Given the description of an element on the screen output the (x, y) to click on. 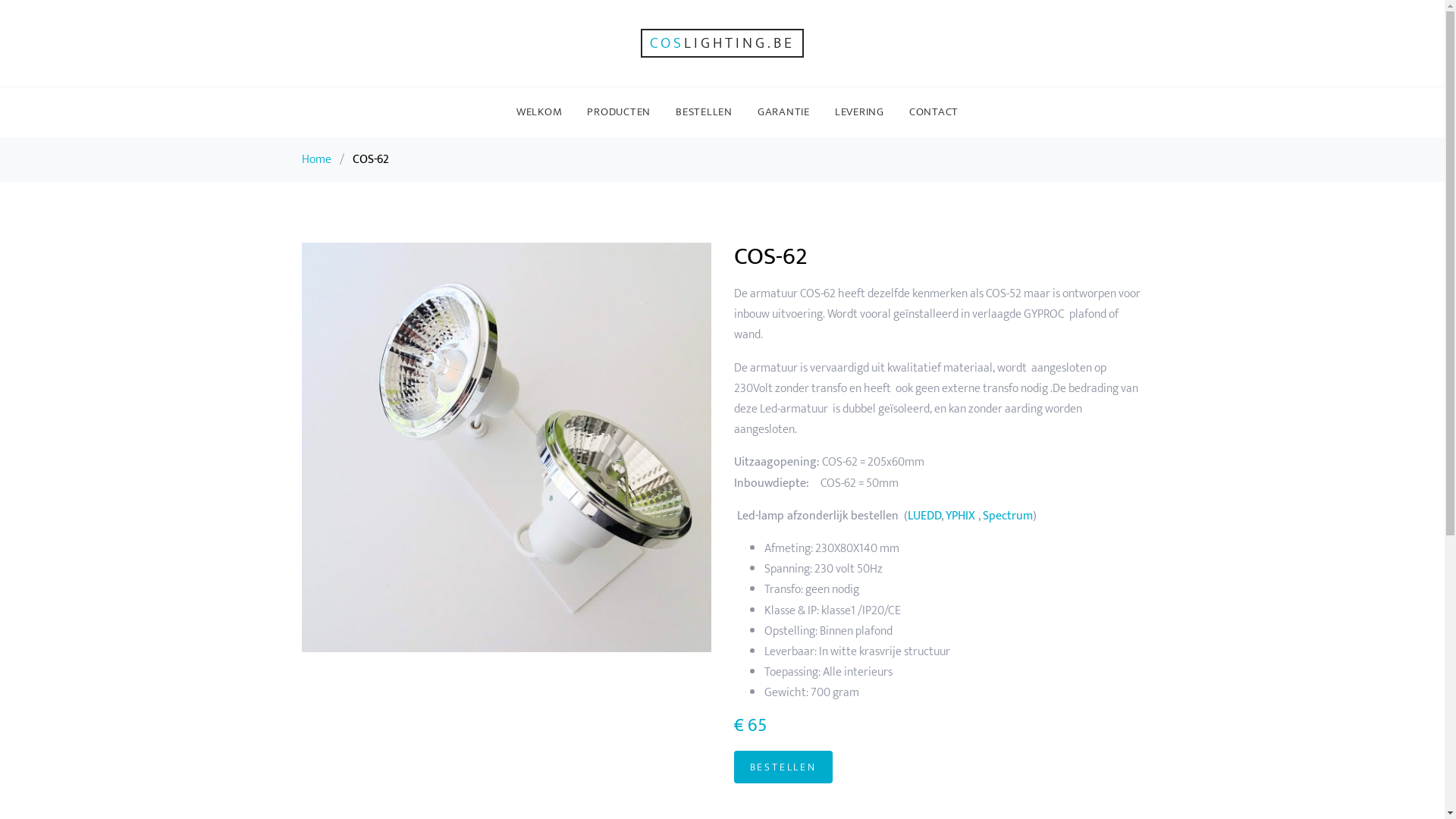
Home Element type: text (316, 158)
WELKOM Element type: text (539, 111)
PRODUCTEN Element type: text (618, 111)
COSLIGHTING.BE Element type: text (721, 42)
Spectrum Element type: text (1007, 515)
LEVERING Element type: text (859, 111)
CONTACT Element type: text (933, 111)
BESTELLEN Element type: text (704, 111)
YPHIX Element type: text (959, 515)
GARANTIE Element type: text (783, 111)
LUEDD Element type: text (923, 515)
BESTELLEN Element type: text (783, 766)
